Given the description of an element on the screen output the (x, y) to click on. 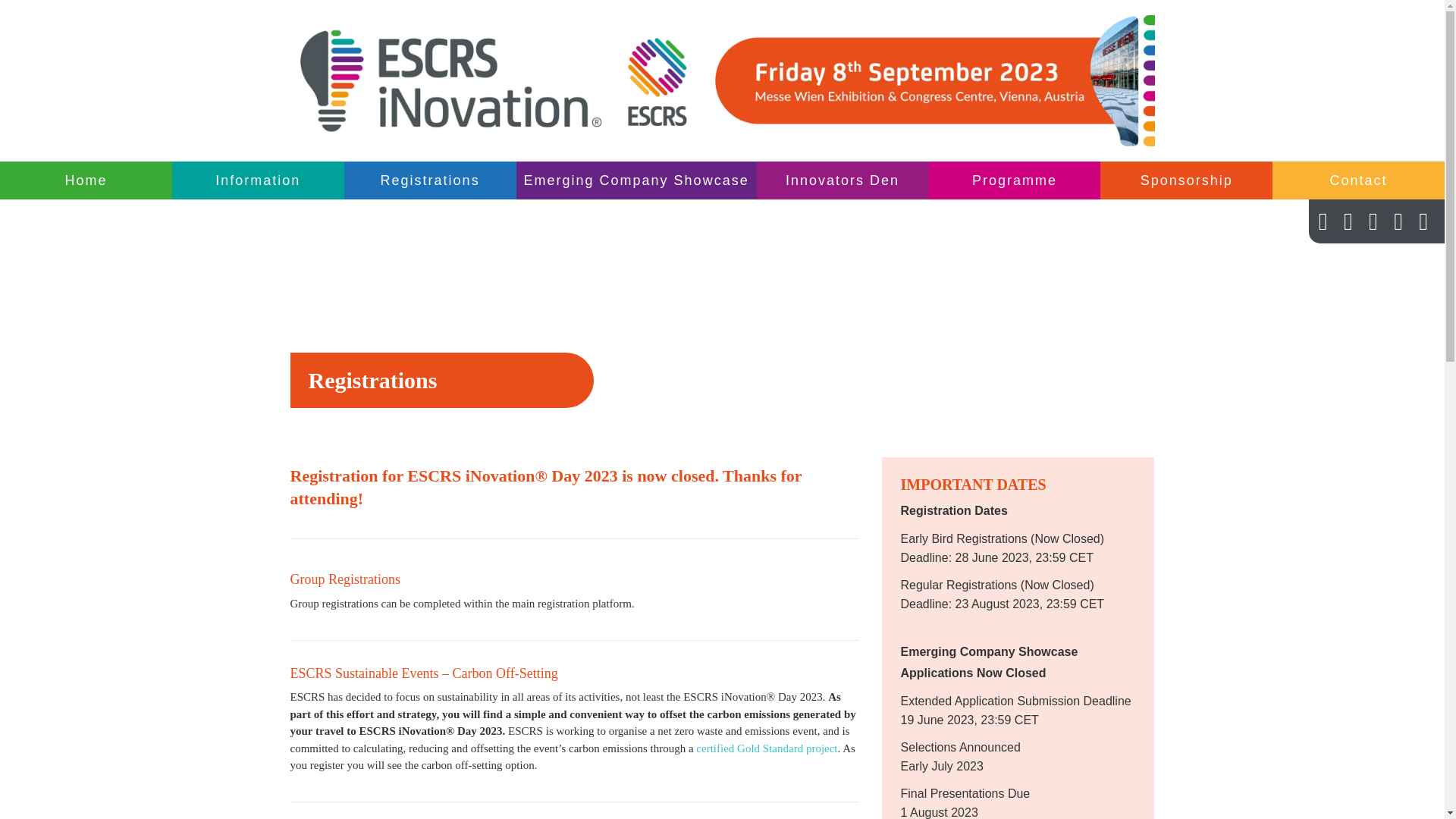
LinkedIn (1347, 225)
Facebook (1372, 225)
Instagram (1398, 225)
Programme (1014, 180)
Home (85, 180)
certified Gold Standard project (766, 748)
Sponsorship (1186, 180)
YouTube (1423, 225)
Innovators Den (842, 180)
Emerging Company Showcase (636, 180)
